Given the description of an element on the screen output the (x, y) to click on. 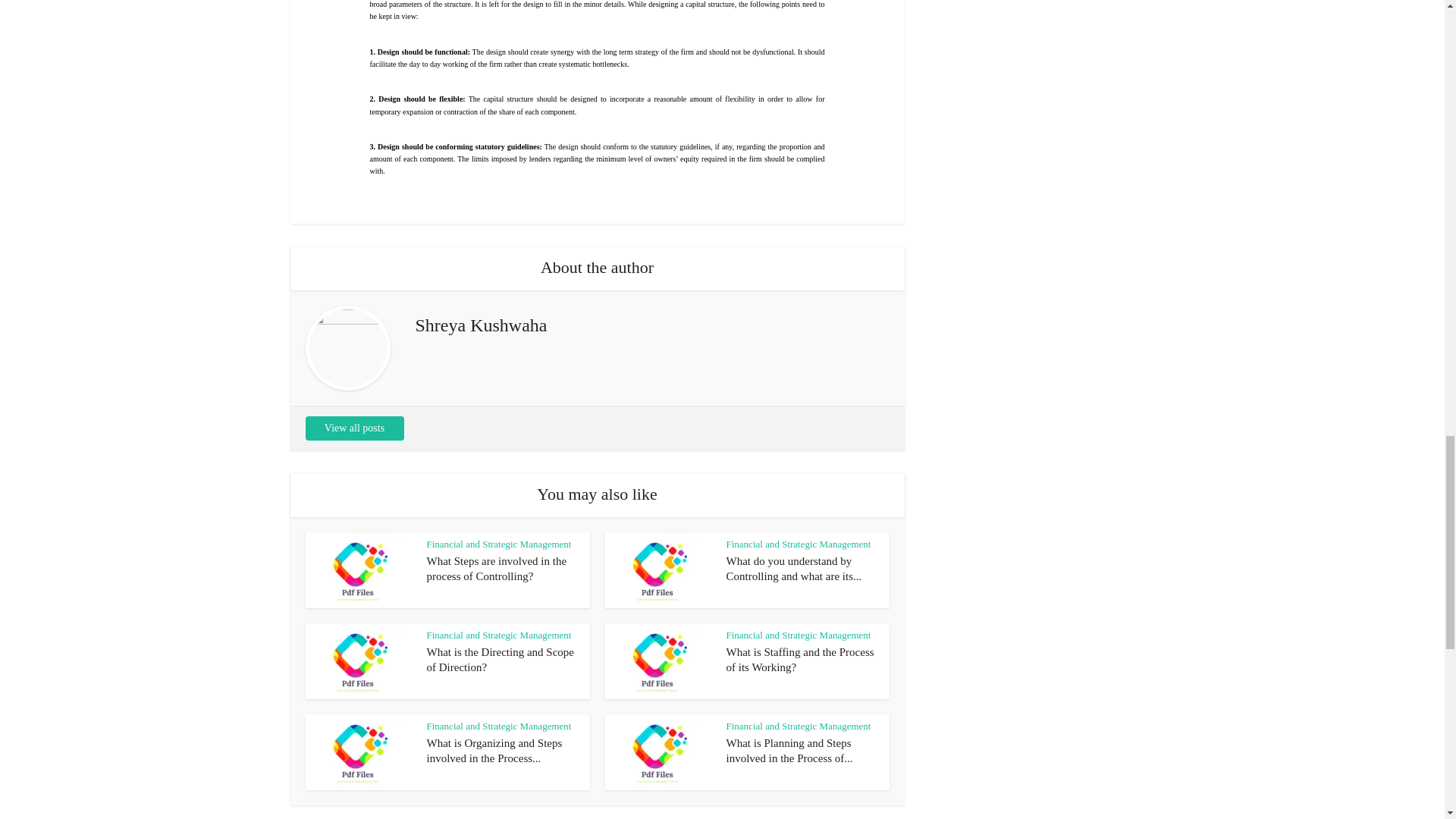
Financial and Strategic Management (498, 543)
Financial and Strategic Management (498, 726)
What is the Directing and Scope of Direction? (499, 659)
What is Organizing and Steps involved in the Process... (494, 750)
View all posts (353, 428)
What Steps are involved in the process of Controlling? (496, 568)
Financial and Strategic Management (798, 634)
What is the Directing and Scope of Direction? (499, 659)
What do you understand by Controlling and what are its... (793, 568)
What is Staffing and the Process of its Working? (800, 659)
